Given the description of an element on the screen output the (x, y) to click on. 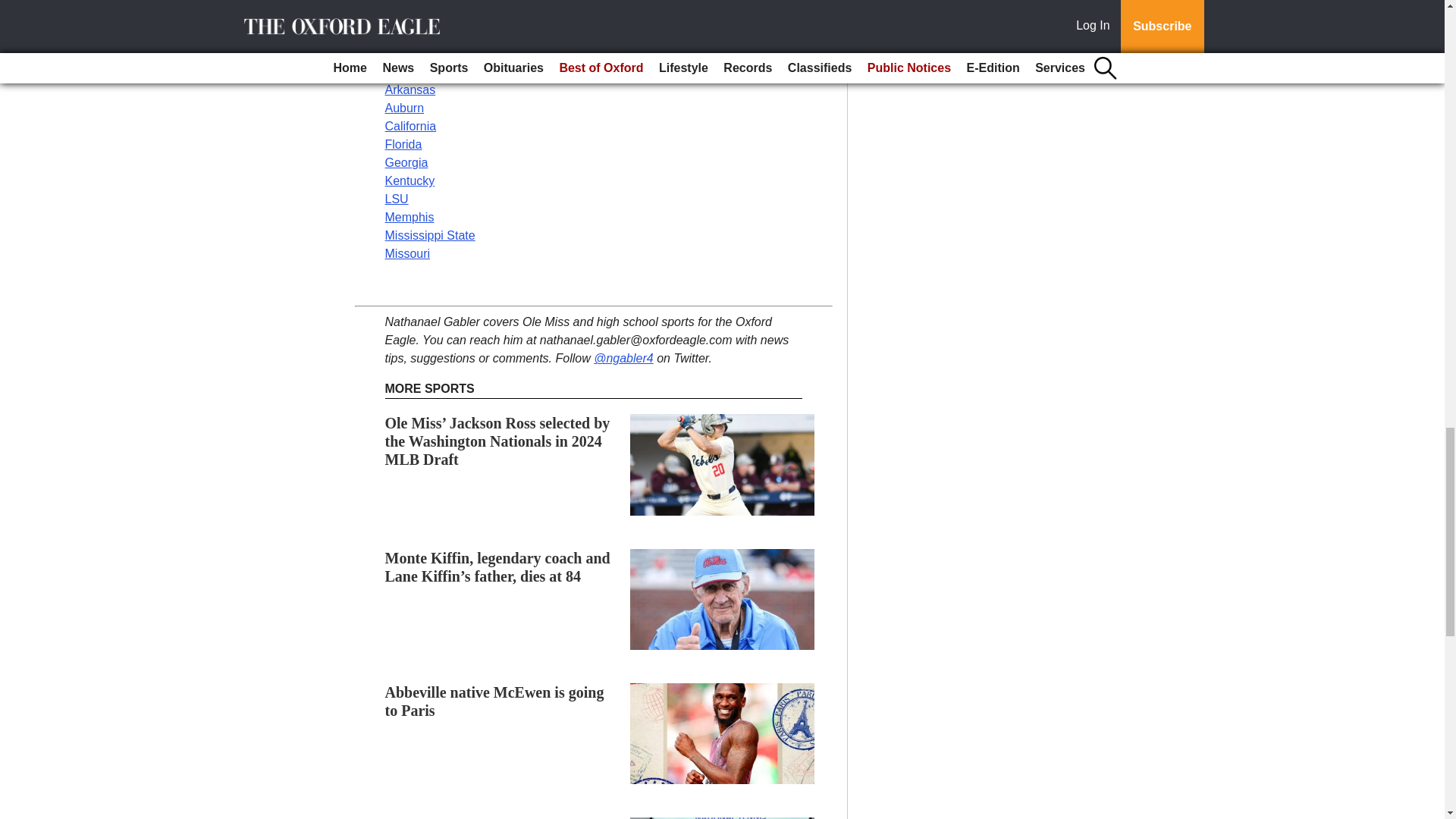
Georgia (406, 162)
Florida (403, 144)
California (410, 125)
Arkansas (410, 89)
Memphis (409, 216)
Abbeville native McEwen is going to Paris (494, 701)
Kentucky (410, 180)
Auburn (405, 107)
LSU (397, 198)
Missouri (407, 253)
Mississippi State (430, 235)
Alabama (408, 71)
